Given the description of an element on the screen output the (x, y) to click on. 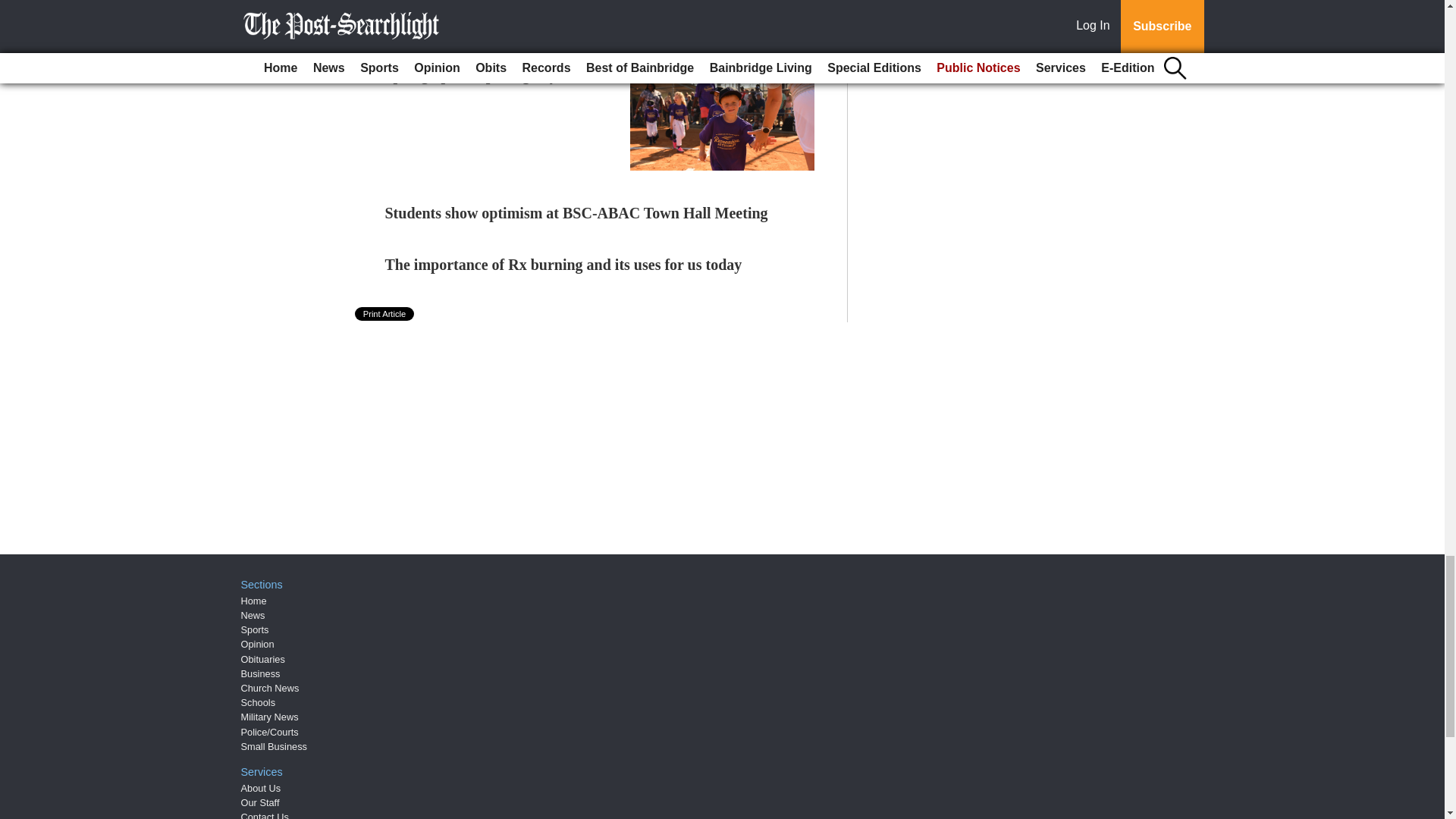
Students show optimism at BSC-ABAC Town Hall Meeting (576, 212)
The importance of Rx burning and its uses for us today (563, 264)
